Given the description of an element on the screen output the (x, y) to click on. 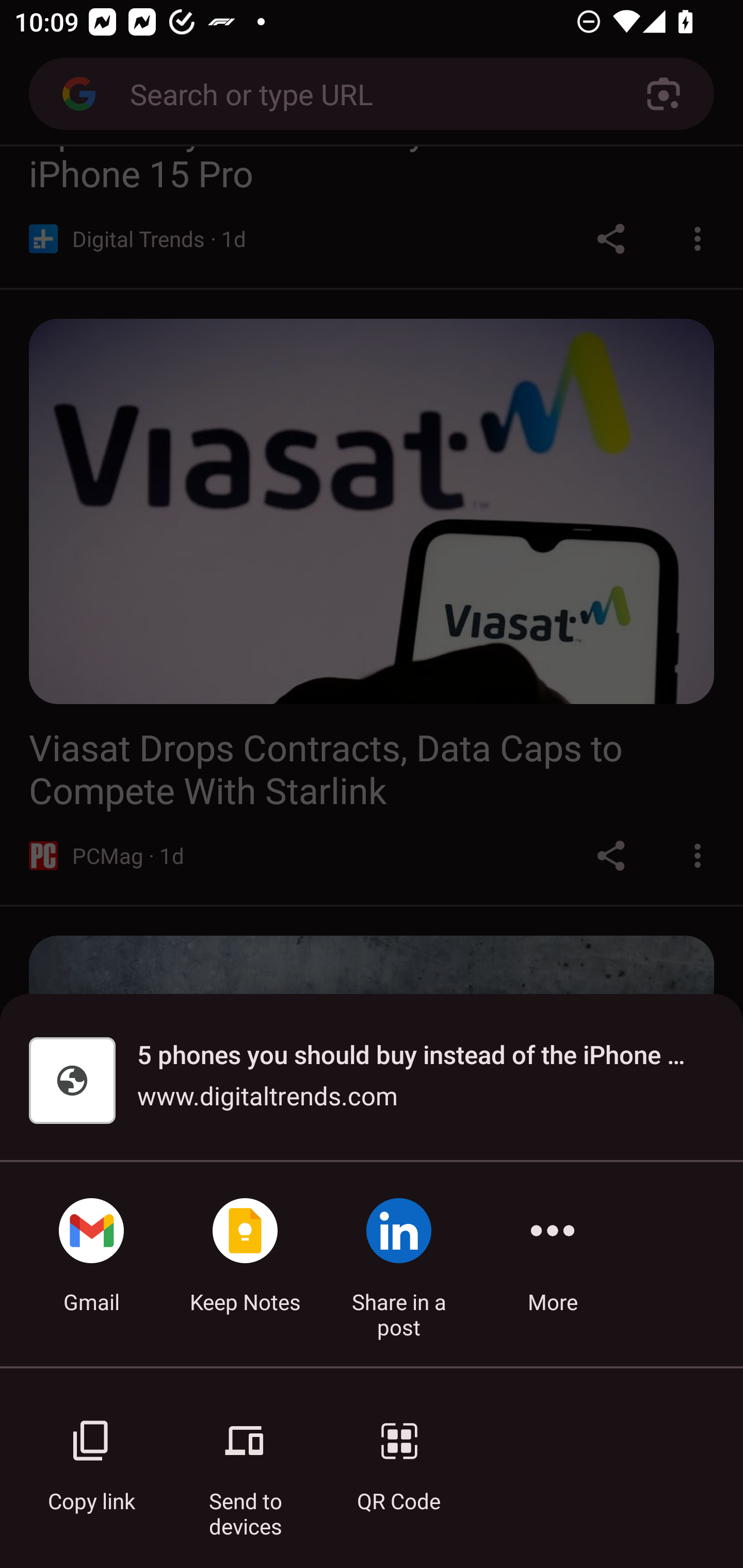
Search with your camera using Google Lens (663, 93)
Search or type URL (364, 92)
Gmail (90, 1263)
Keep Notes (244, 1263)
Share in a post (398, 1263)
More (552, 1263)
Copy link (90, 1454)
Send to devices (244, 1454)
QR Code (398, 1454)
